Given the description of an element on the screen output the (x, y) to click on. 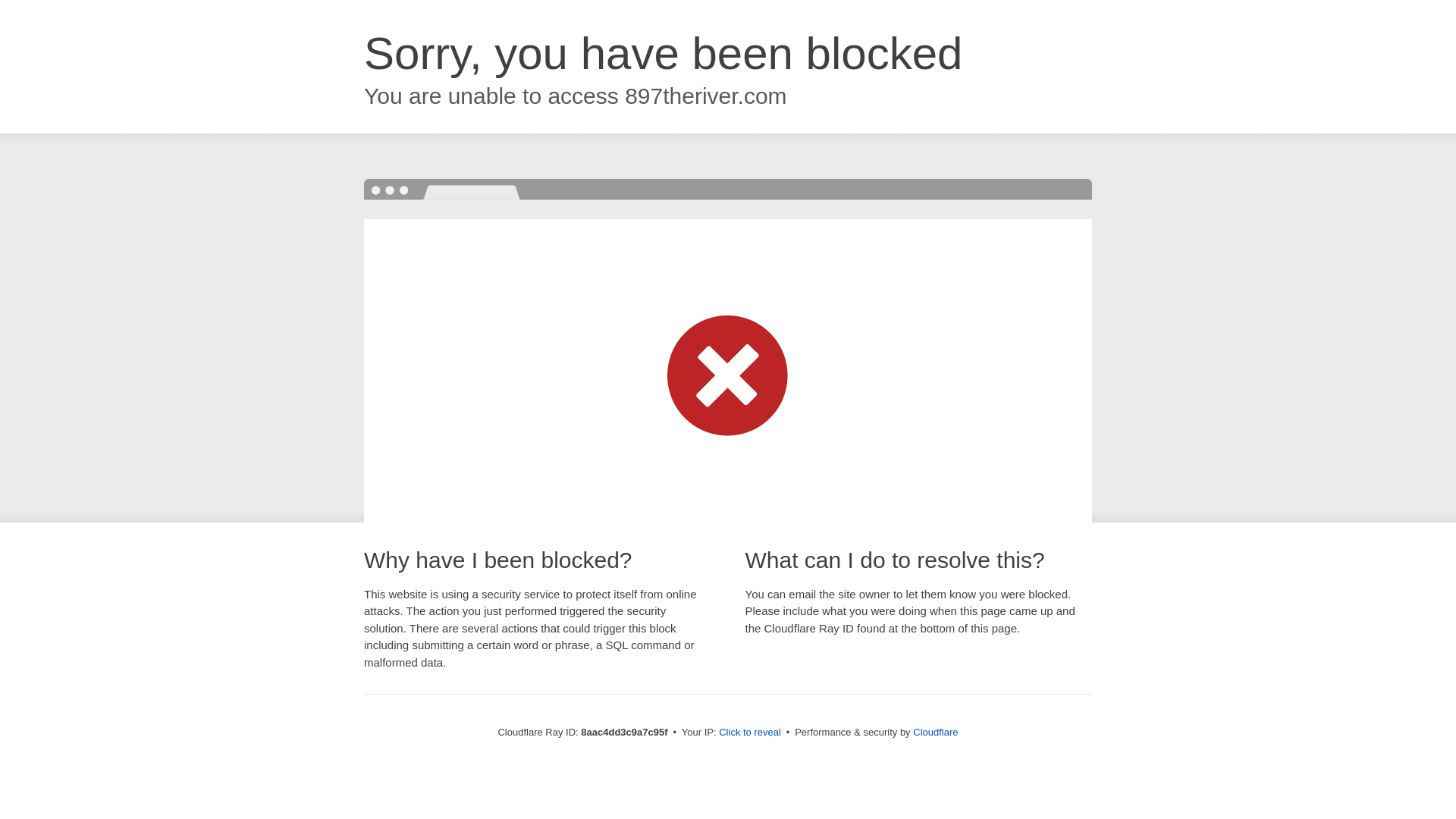
Click to reveal (749, 732)
Cloudflare (935, 731)
